Given the description of an element on the screen output the (x, y) to click on. 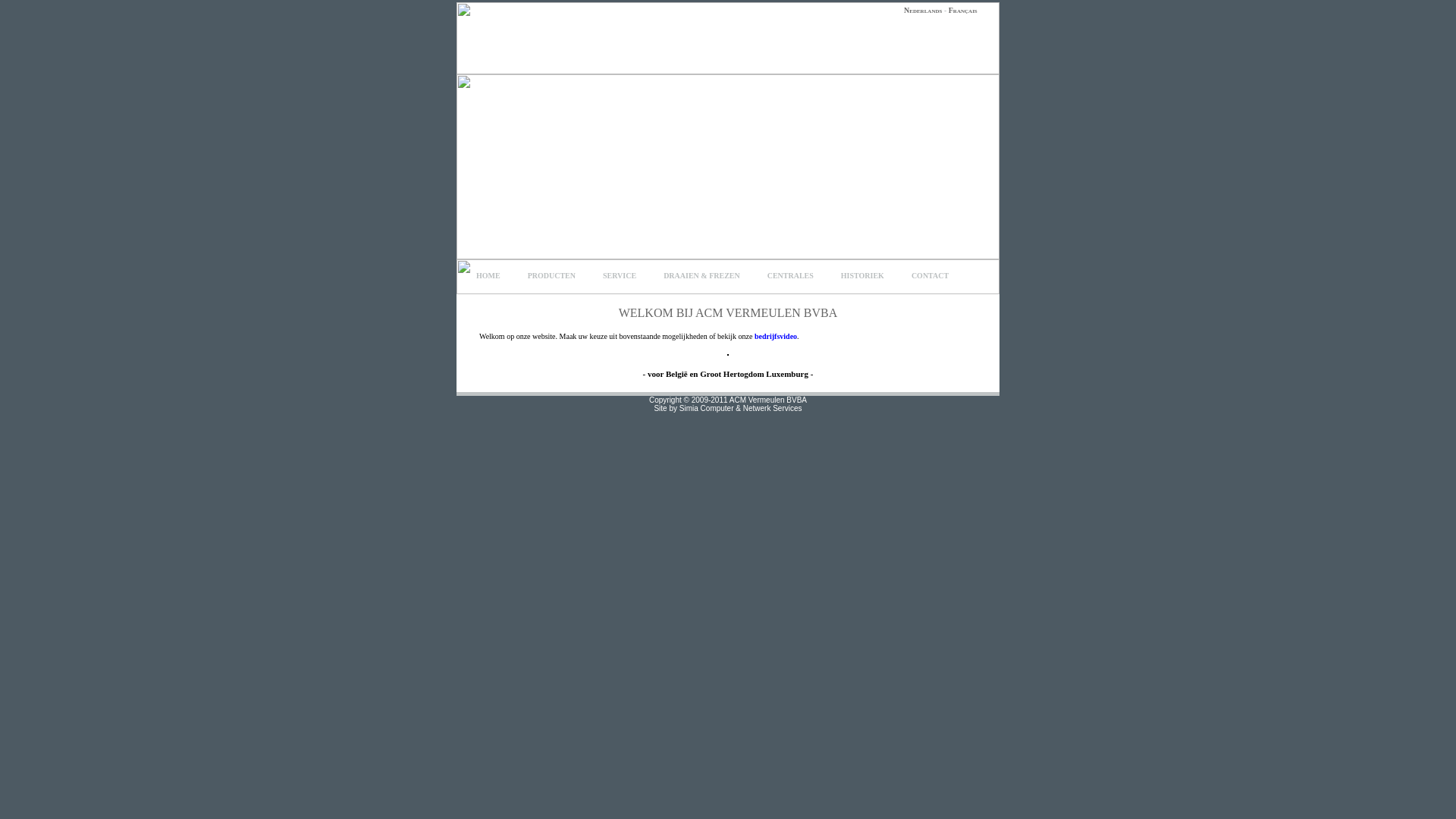
bedrijfsvideo Element type: text (775, 336)
CONTACT Element type: text (929, 275)
Nederlands Element type: text (922, 10)
SERVICE Element type: text (619, 275)
CENTRALES Element type: text (790, 275)
DRAAIEN & FREZEN Element type: text (701, 275)
HOME Element type: text (488, 275)
HISTORIEK Element type: text (862, 275)
PRODUCTEN Element type: text (551, 275)
Simia Computer & Netwerk Services Element type: text (740, 408)
